Given the description of an element on the screen output the (x, y) to click on. 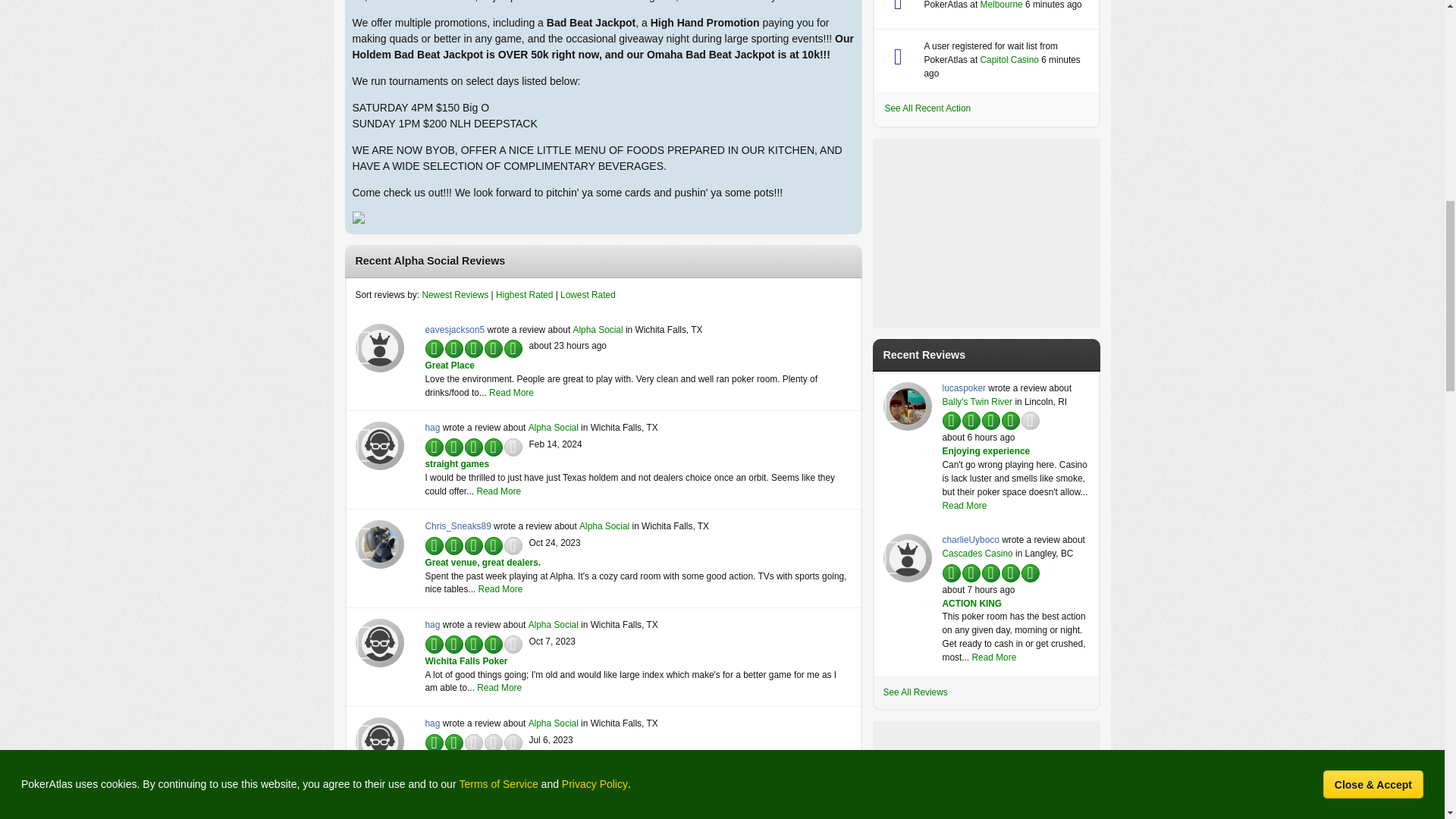
2 (453, 347)
1 (453, 347)
Jul 16, 2024 (568, 345)
3 (453, 347)
Jul 6, 2023 (551, 739)
Oct 24, 2023 (554, 542)
Oct 7, 2023 (552, 641)
5 (453, 347)
Feb 14, 2024 (555, 443)
5 (453, 445)
4 (453, 347)
2 (453, 445)
3 (453, 445)
4 (453, 445)
